Given the description of an element on the screen output the (x, y) to click on. 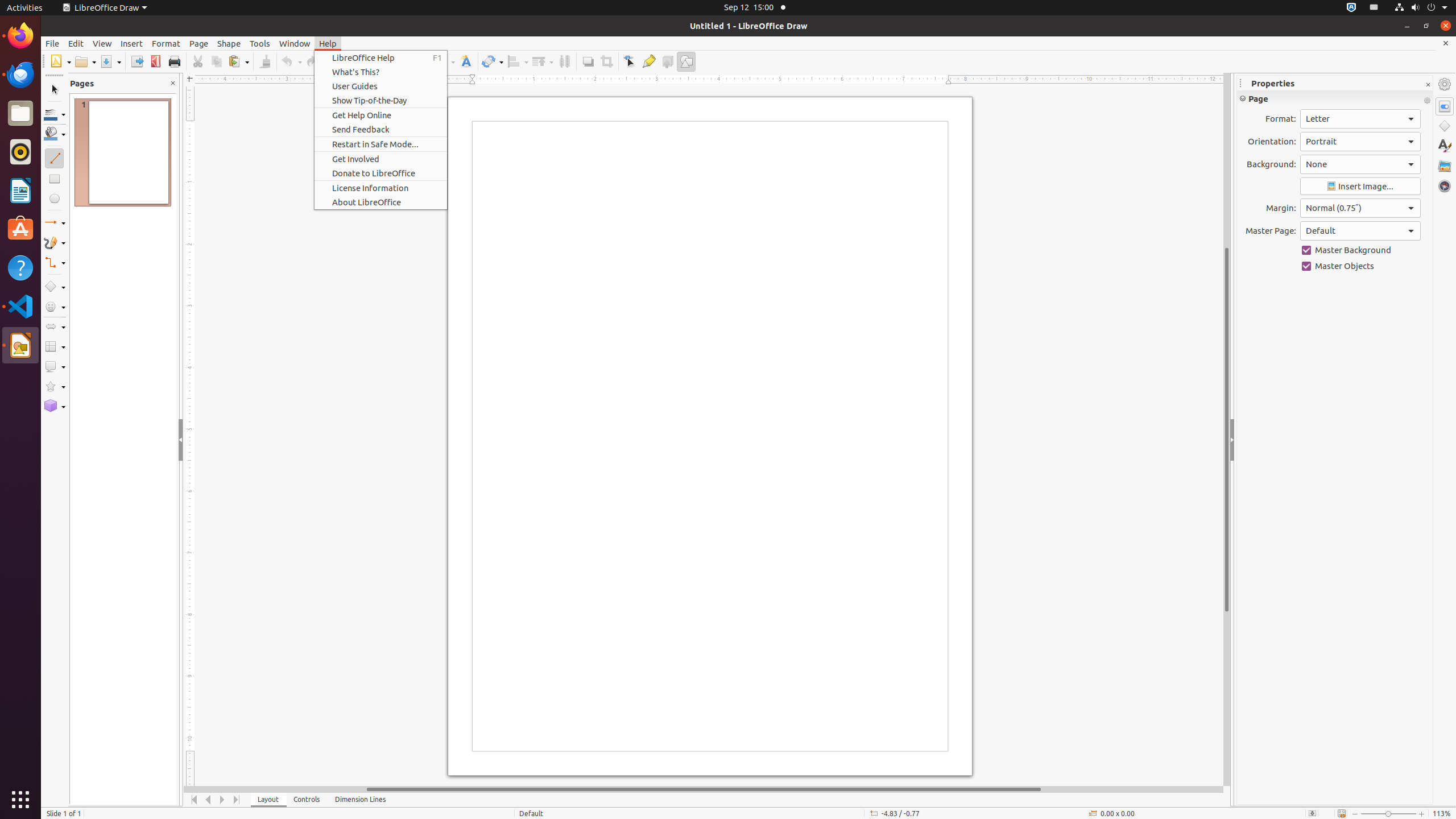
Export Element type: push-button (136, 61)
Cut Element type: push-button (197, 61)
Master Background Element type: check-box (1360, 249)
Orientation: Element type: combo-box (1360, 141)
Select Element type: push-button (53, 89)
